Given the description of an element on the screen output the (x, y) to click on. 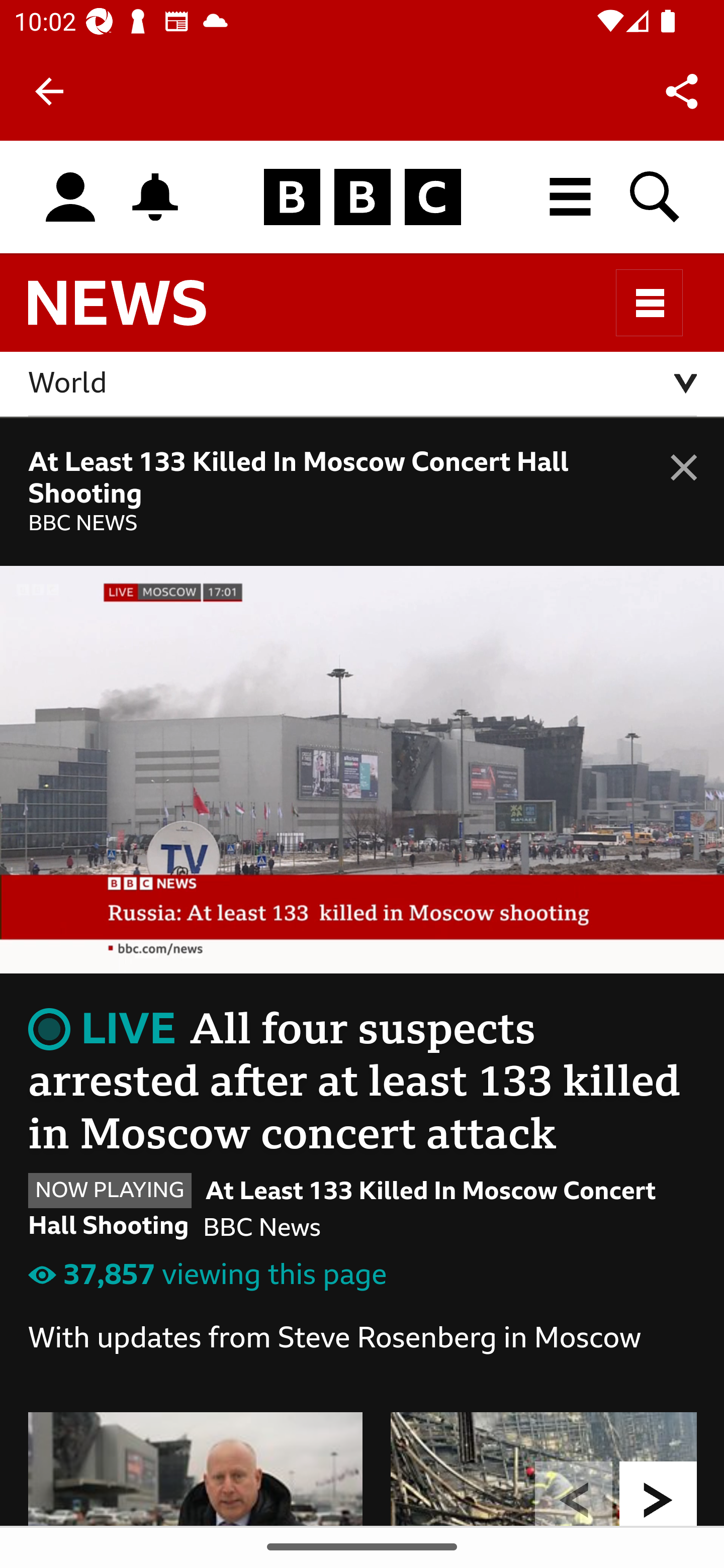
Back (49, 91)
Share (681, 90)
Notifications (155, 197)
All BBC destinations menu (570, 197)
Search BBC (655, 197)
Sign in (70, 198)
Homepage (361, 198)
Sections (650, 302)
BBC News (133, 310)
World (363, 384)
previous (574, 1493)
next (658, 1493)
